Given the description of an element on the screen output the (x, y) to click on. 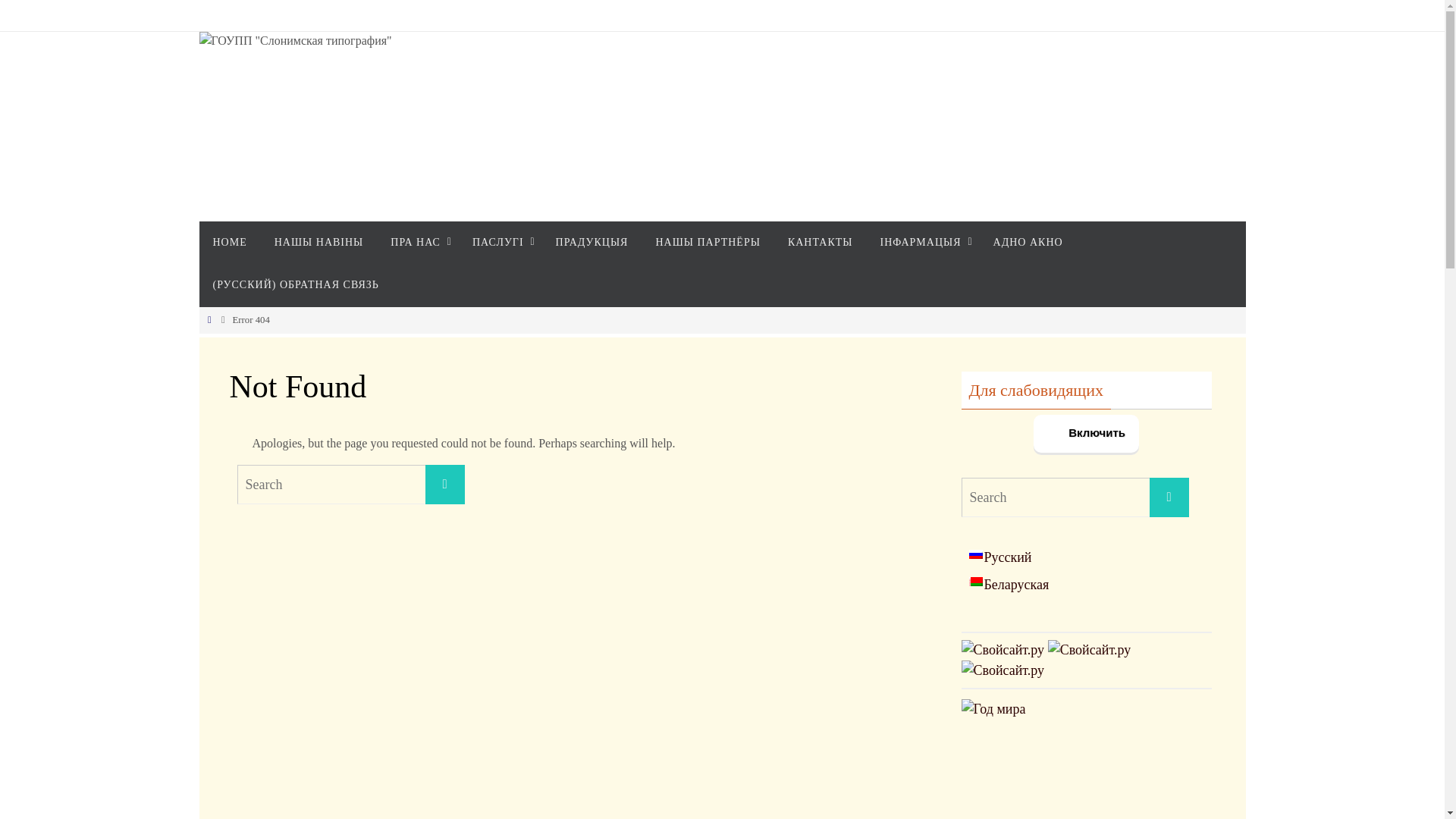
HOME Element type: text (229, 242)
